Given the description of an element on the screen output the (x, y) to click on. 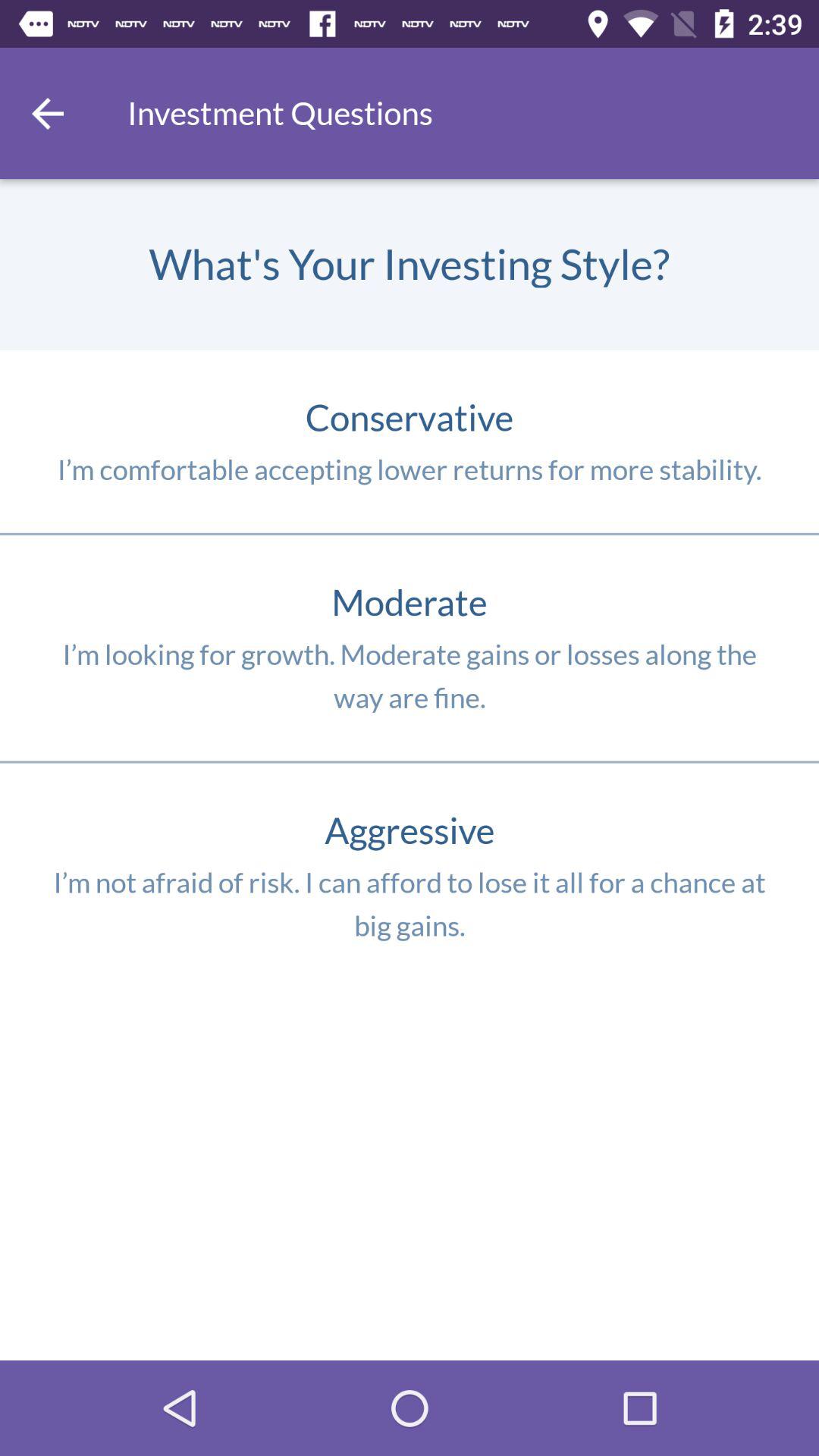
launch the item above conservative (47, 113)
